Given the description of an element on the screen output the (x, y) to click on. 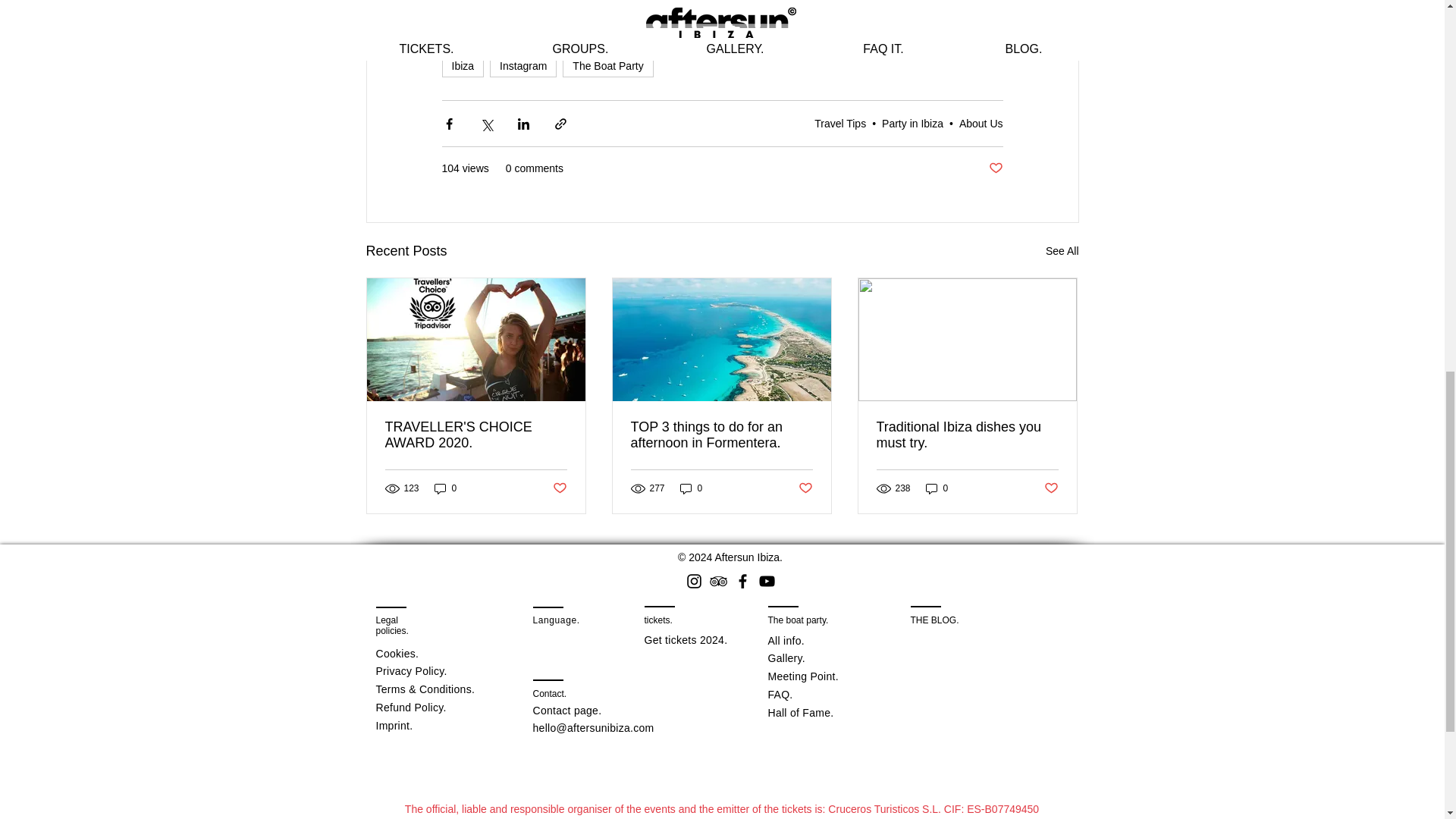
Travel Tips (839, 122)
About Us (981, 122)
Post not marked as liked (995, 168)
See All (1061, 251)
Traditional Ibiza dishes you must try. (967, 435)
Post not marked as liked (558, 488)
TOP 3 things to do for an afternoon in Formentera. (721, 435)
Instagram (522, 65)
TRAVELLER'S CHOICE AWARD 2020. (476, 435)
Post not marked as liked (804, 488)
